Given the description of an element on the screen output the (x, y) to click on. 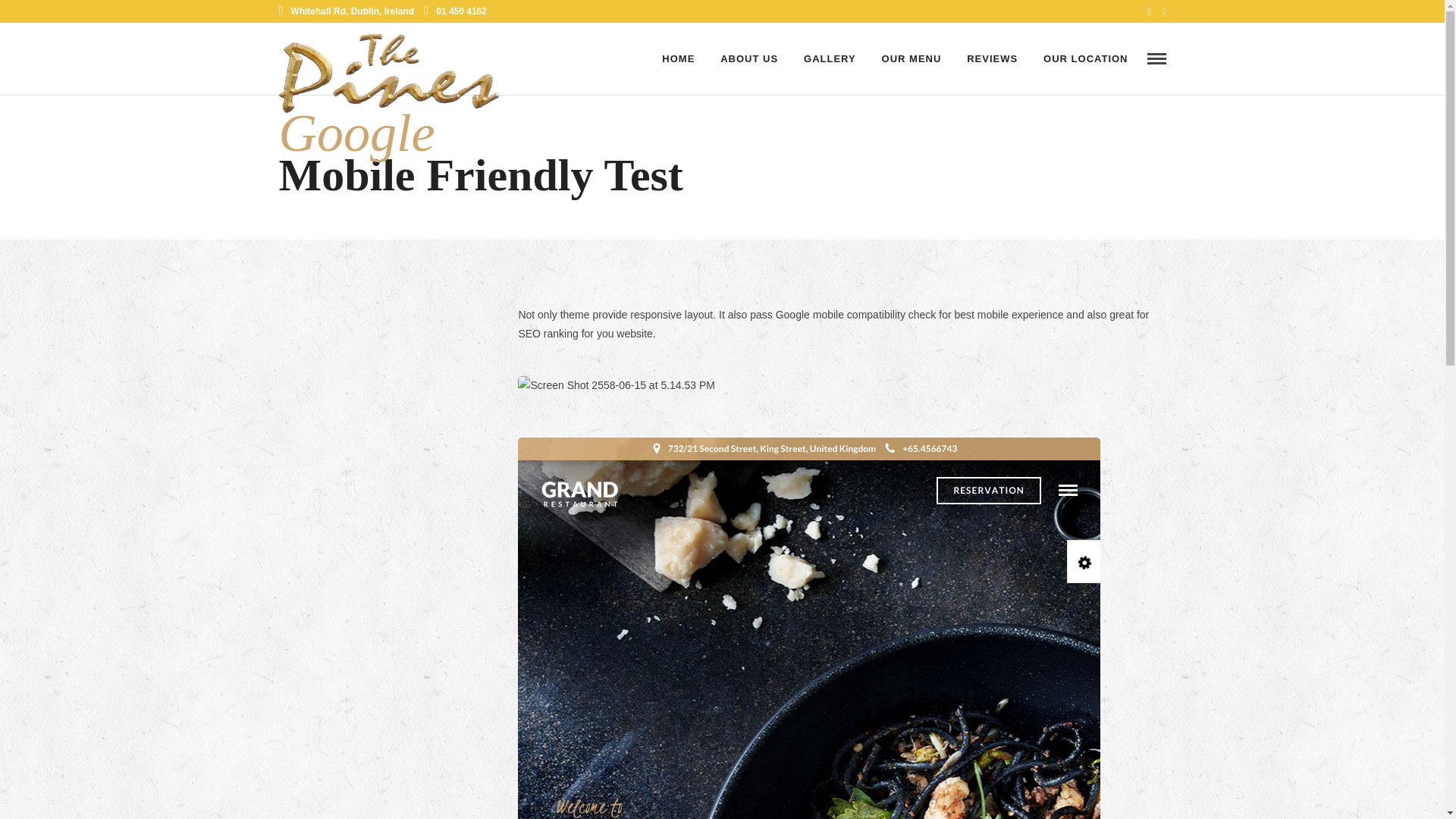
GALLERY (829, 59)
REVIEWS (992, 59)
01 450 4162 (454, 10)
OUR LOCATION (1085, 59)
ABOUT US (749, 59)
OUR MENU (911, 59)
